Given the description of an element on the screen output the (x, y) to click on. 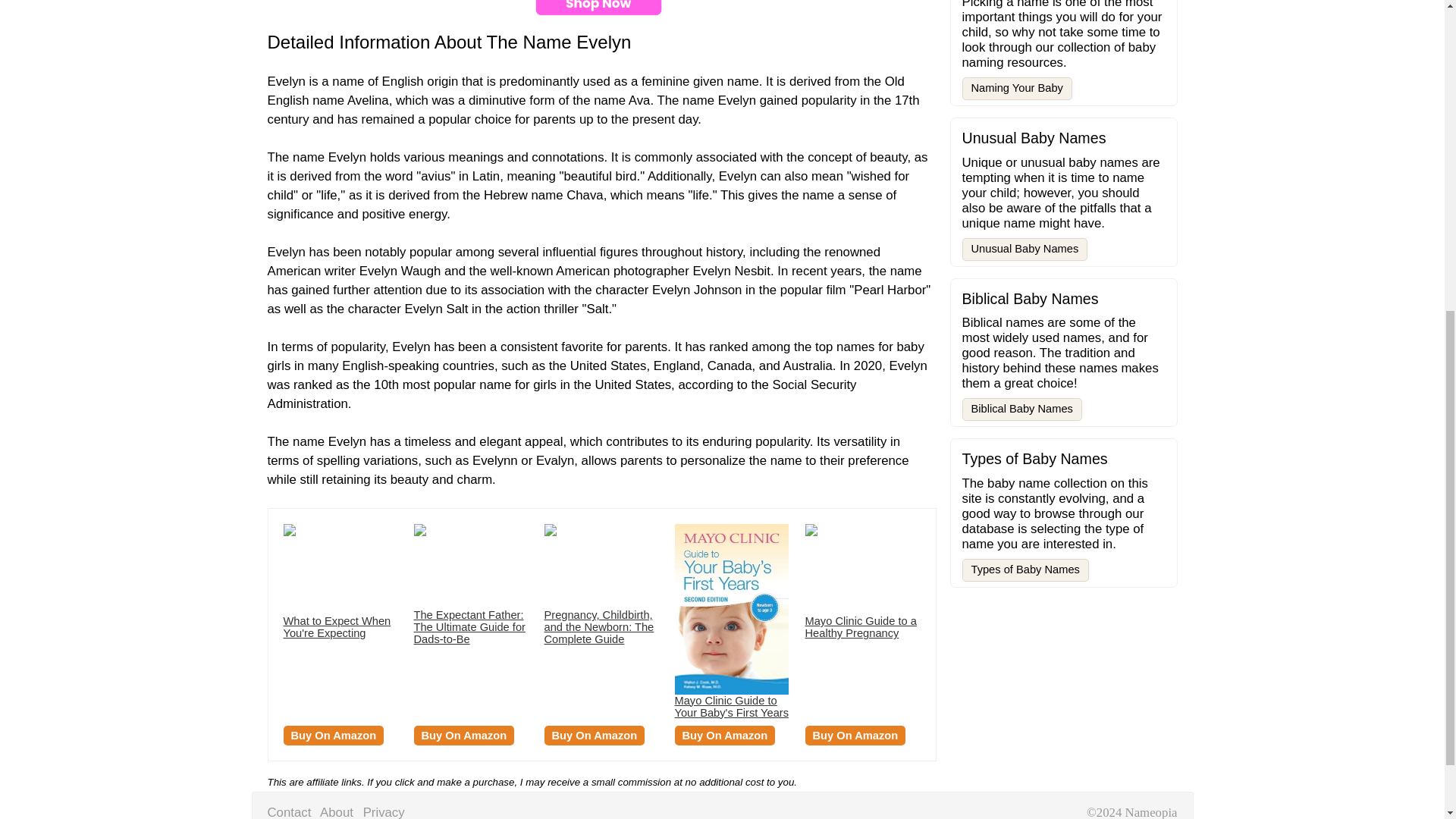
Mayo Clinic Guide to Your Baby's First Years (732, 706)
Mayo Clinic Guide to a Healthy Pregnancy (861, 627)
Buy On Amazon (464, 735)
Types of Baby Names (1023, 569)
The Expectant Father: The Ultimate Guide for Dads-to-Be (469, 627)
Unusual Baby Names (1023, 249)
Buy On Amazon (594, 735)
Buy On Amazon (855, 735)
Buy On Amazon (725, 735)
Buy On Amazon (333, 735)
Biblical Baby Names (1020, 409)
Pregnancy, Childbirth, and the Newborn: The Complete Guide (598, 627)
Naming Your Baby (1015, 87)
What to Expect When You're Expecting (337, 627)
